Given the description of an element on the screen output the (x, y) to click on. 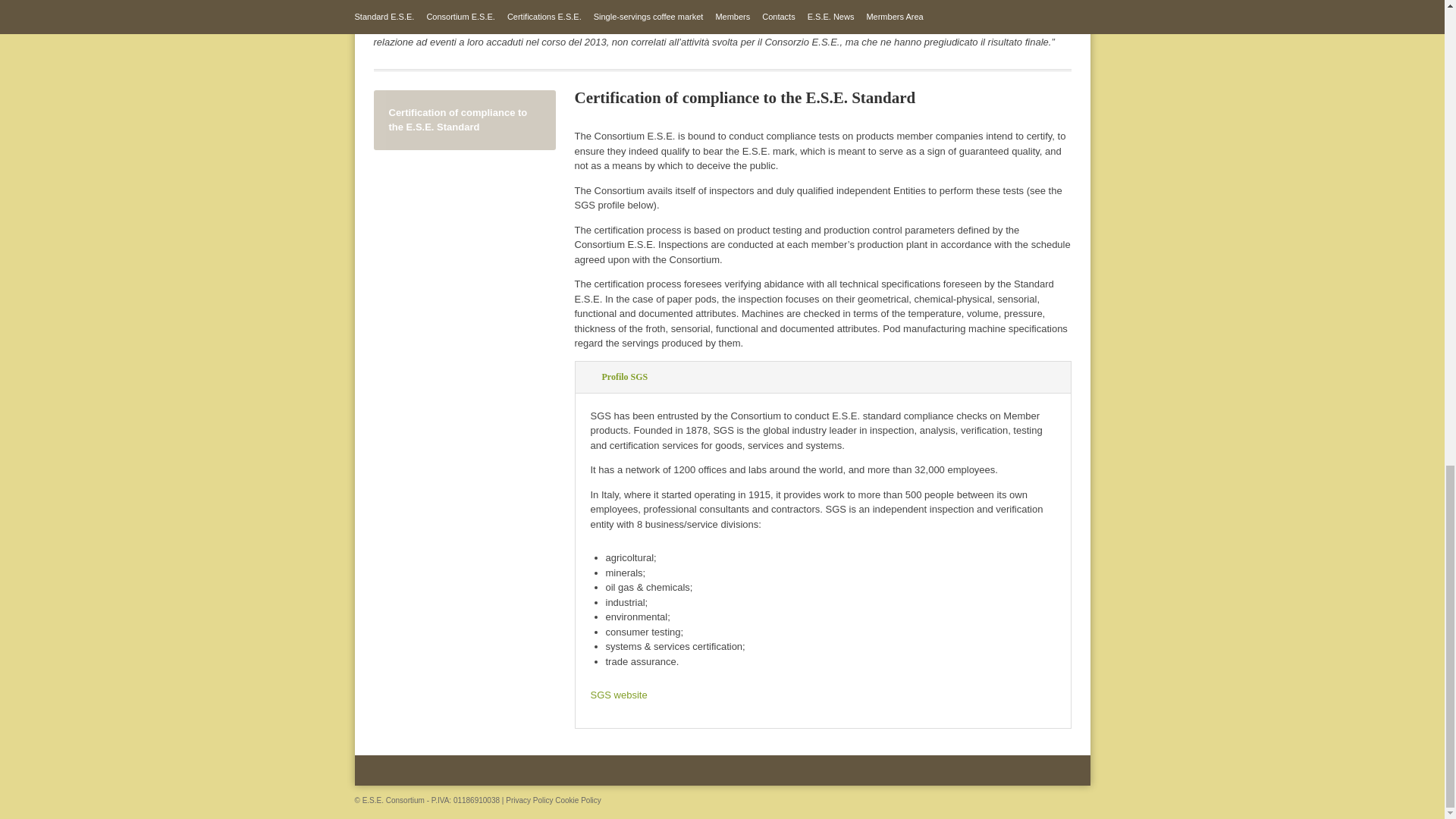
Profilo SGS (823, 377)
Cookie Policy (577, 800)
Certification of compliance to the E.S.E. Standard (463, 119)
Cookie Policy  (577, 800)
Certification of compliance to the E.S.E. Standard (463, 119)
SGS website (617, 695)
SGS website (617, 695)
Privacy Policy  (529, 800)
Privacy Policy (529, 800)
